Given the description of an element on the screen output the (x, y) to click on. 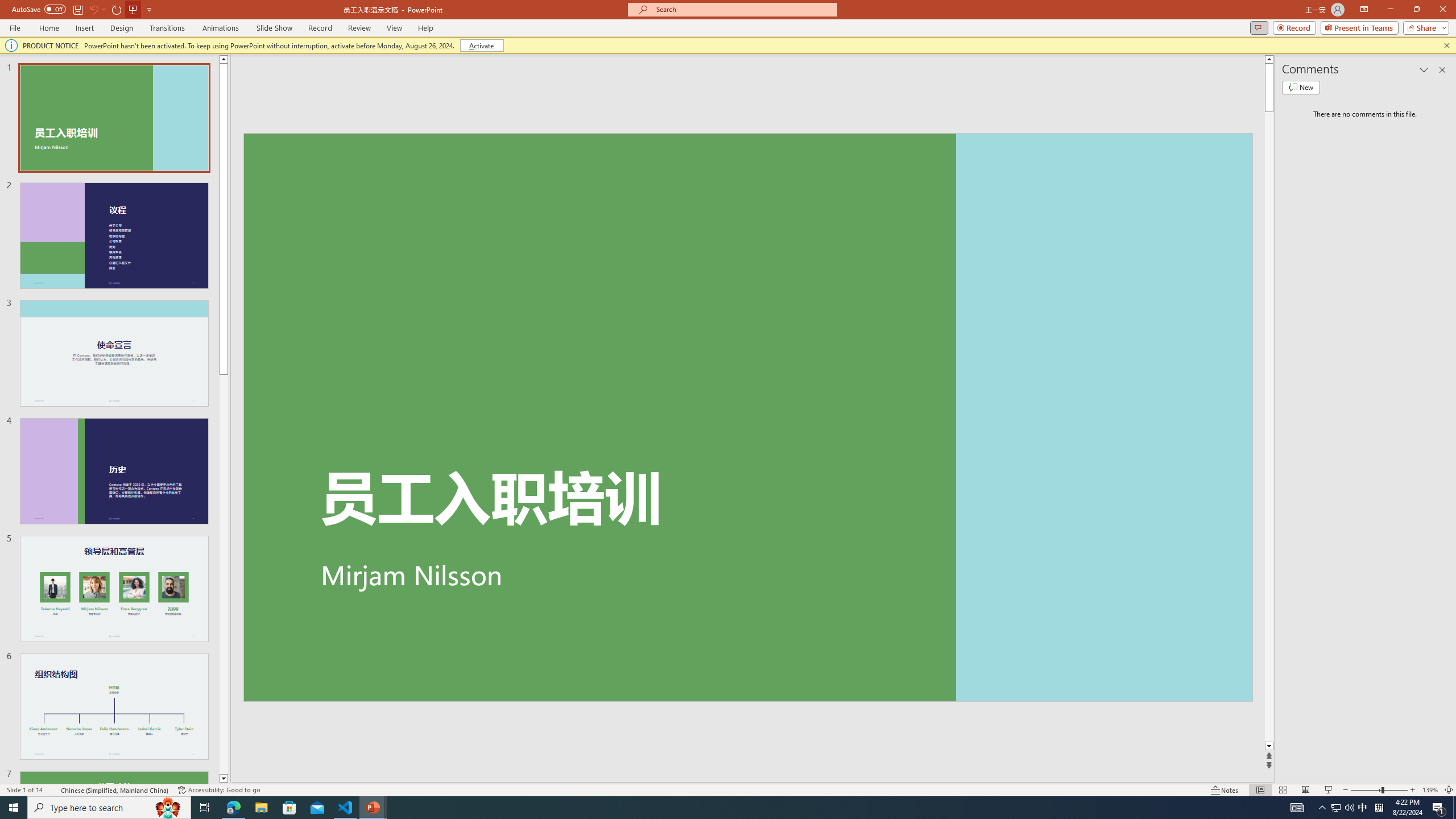
Activate (481, 45)
Zoom 139% (1430, 790)
